Given the description of an element on the screen output the (x, y) to click on. 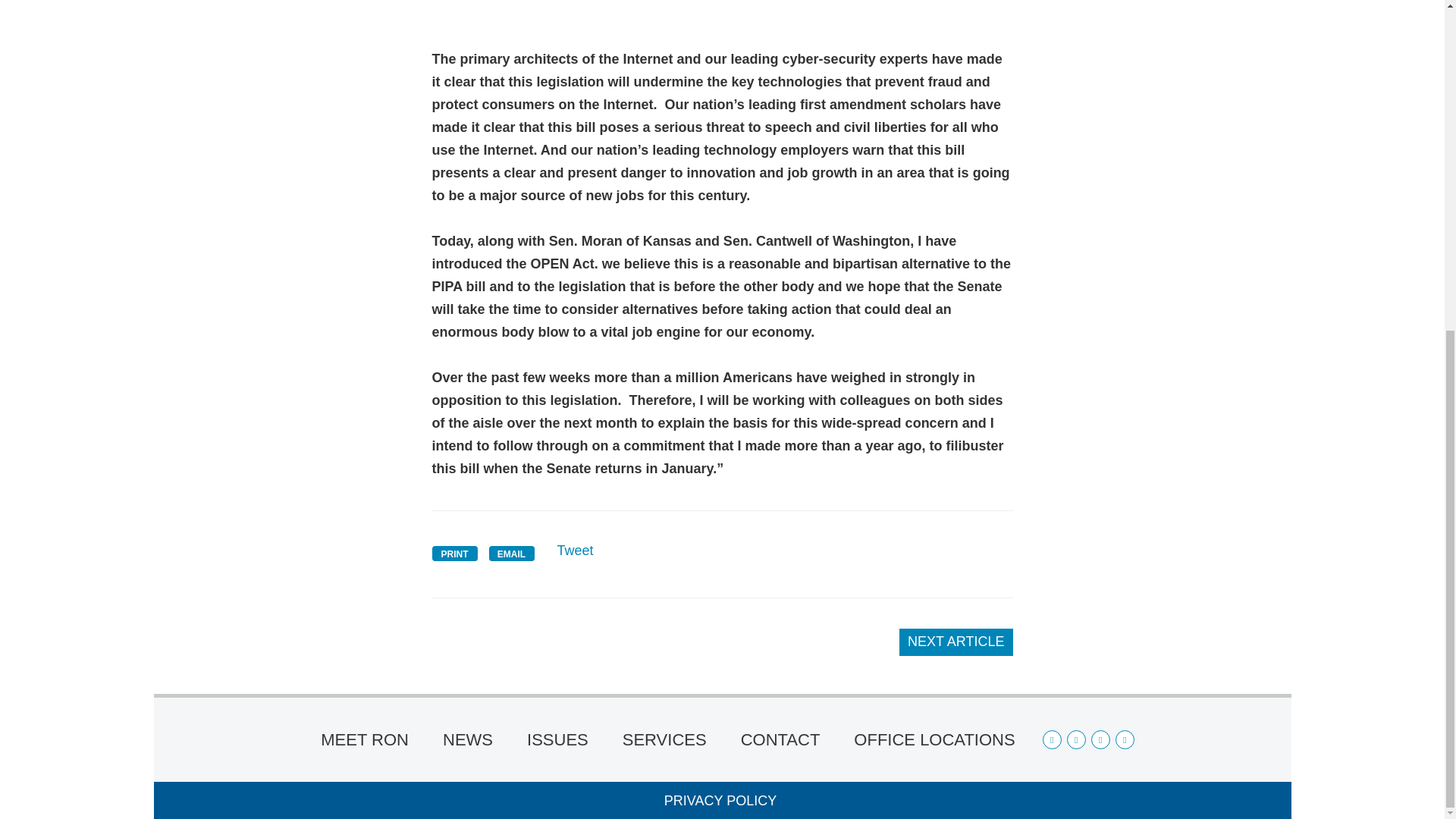
EMAIL (511, 553)
PRINT (454, 553)
